Given the description of an element on the screen output the (x, y) to click on. 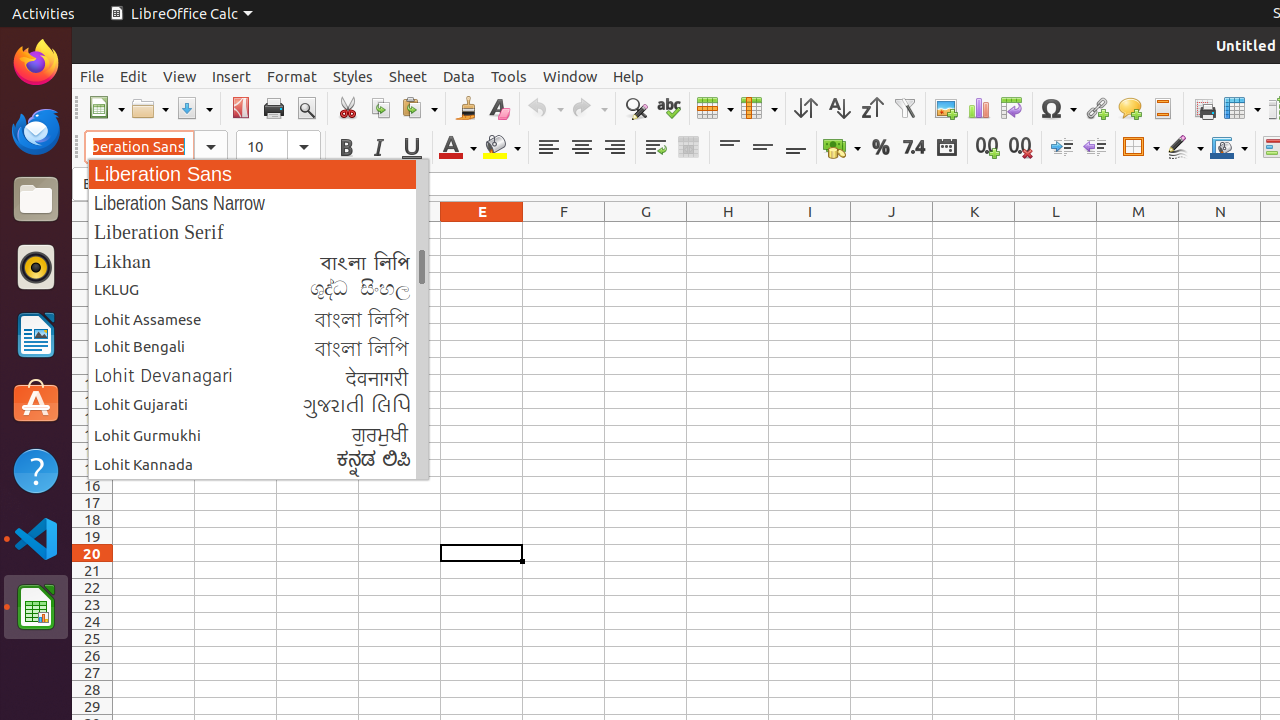
I1 Element type: table-cell (810, 230)
PDF Element type: push-button (240, 108)
Merge and Center Cells Element type: push-button (688, 147)
Column Element type: push-button (759, 108)
Sheet Element type: menu (408, 76)
